Given the description of an element on the screen output the (x, y) to click on. 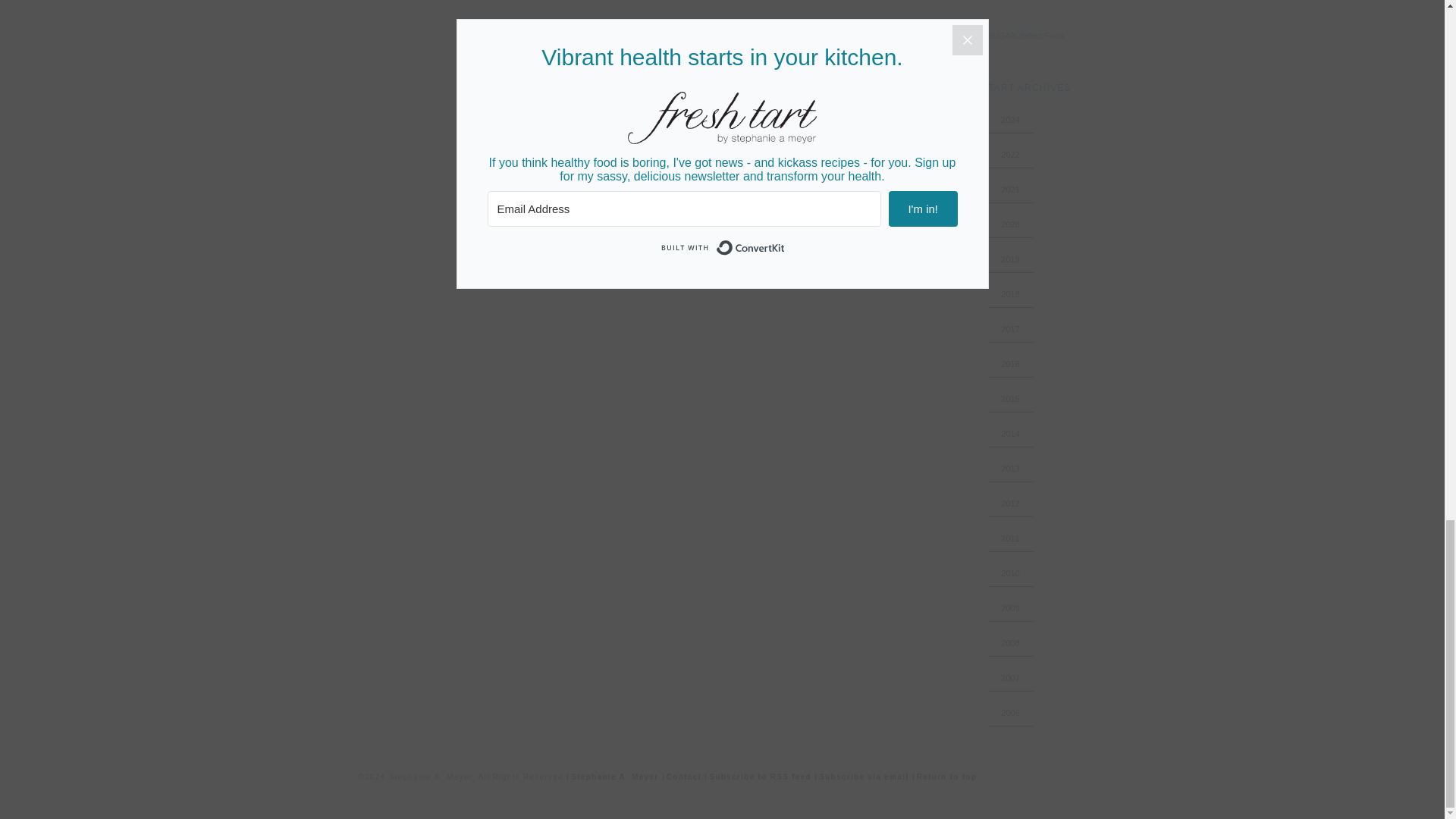
2024 (1010, 119)
2021 (1010, 189)
2022 (1010, 153)
